Given the description of an element on the screen output the (x, y) to click on. 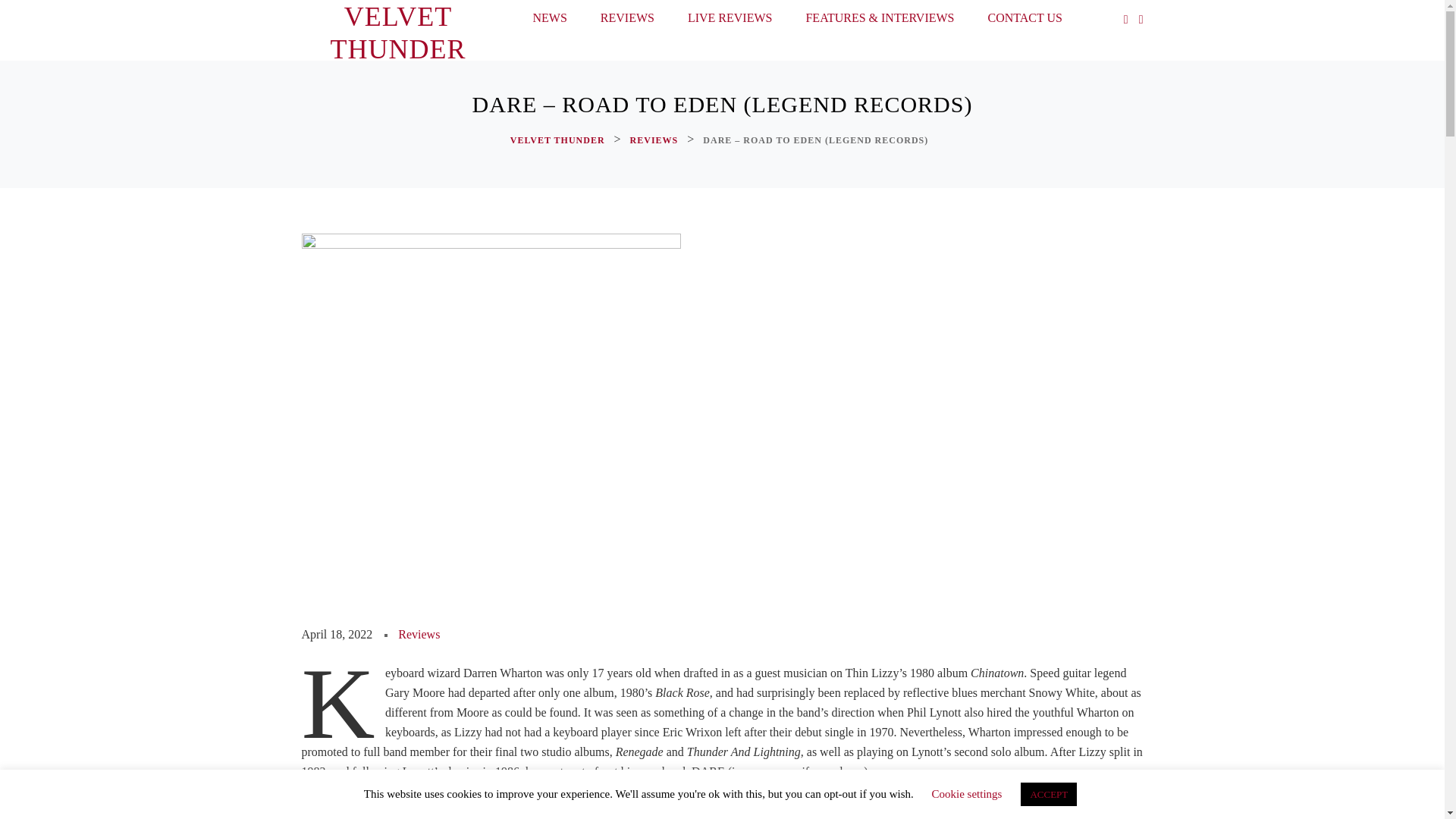
VELVET THUNDER (398, 33)
NEWS (548, 21)
LIVE REVIEWS (729, 21)
Go to VELVET THUNDER. (559, 139)
REVIEWS (627, 21)
CONTACT US (1024, 21)
Go to the Reviews Category archives. (655, 139)
Reviews (418, 634)
VELVET THUNDER (559, 139)
REVIEWS (655, 139)
